Given the description of an element on the screen output the (x, y) to click on. 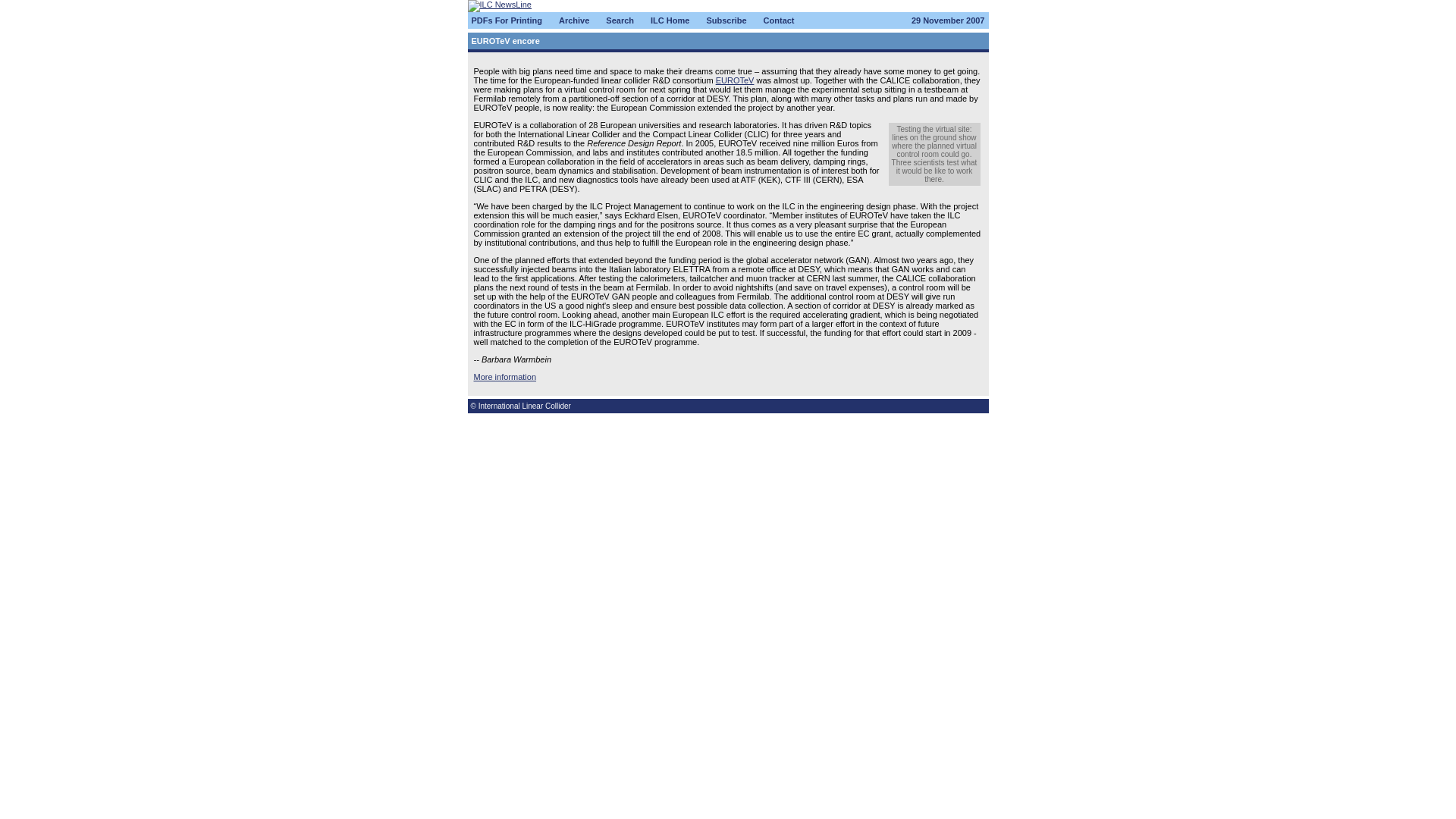
Subscribe (725, 20)
EUROTeV (735, 80)
PDFs For Printing (507, 20)
ILC Home (669, 20)
More information (504, 376)
Archive (574, 20)
Search (619, 20)
Contact (778, 20)
